Given the description of an element on the screen output the (x, y) to click on. 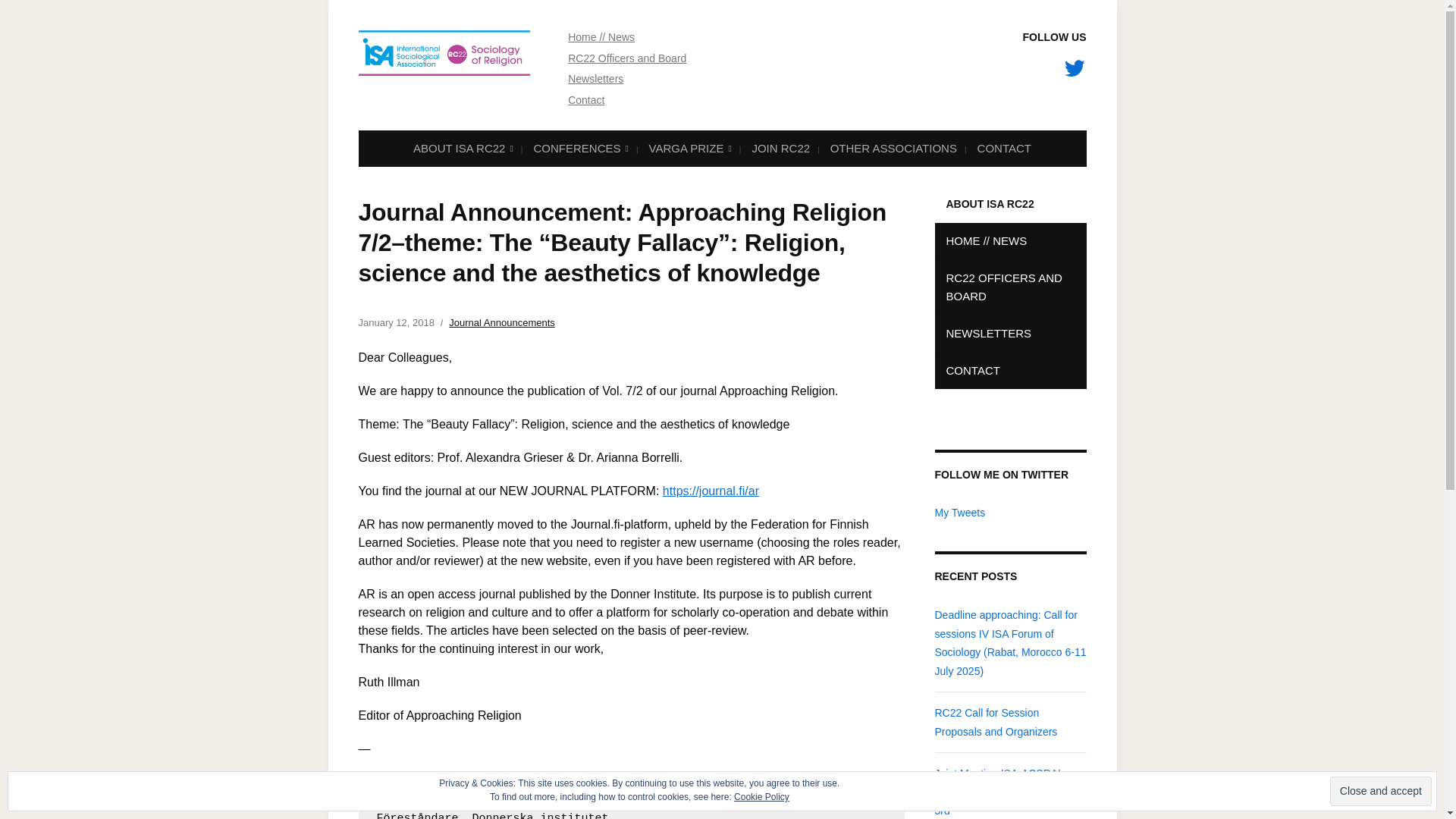
CONTACT (1010, 370)
VARGA PRIZE (689, 148)
NEWSLETTERS (1010, 333)
RC22 Officers and Board (626, 58)
OTHER ASSOCIATIONS (893, 148)
CONTACT (1003, 148)
Journal Announcements (501, 322)
My Tweets (959, 512)
Newsletters (595, 78)
Contact (585, 100)
CONFERENCES (579, 148)
JOIN RC22 (780, 148)
RC22 Call for Session Proposals and Organizers (995, 721)
RC22 OFFICERS AND BOARD (1010, 287)
Twitter (1073, 68)
